Given the description of an element on the screen output the (x, y) to click on. 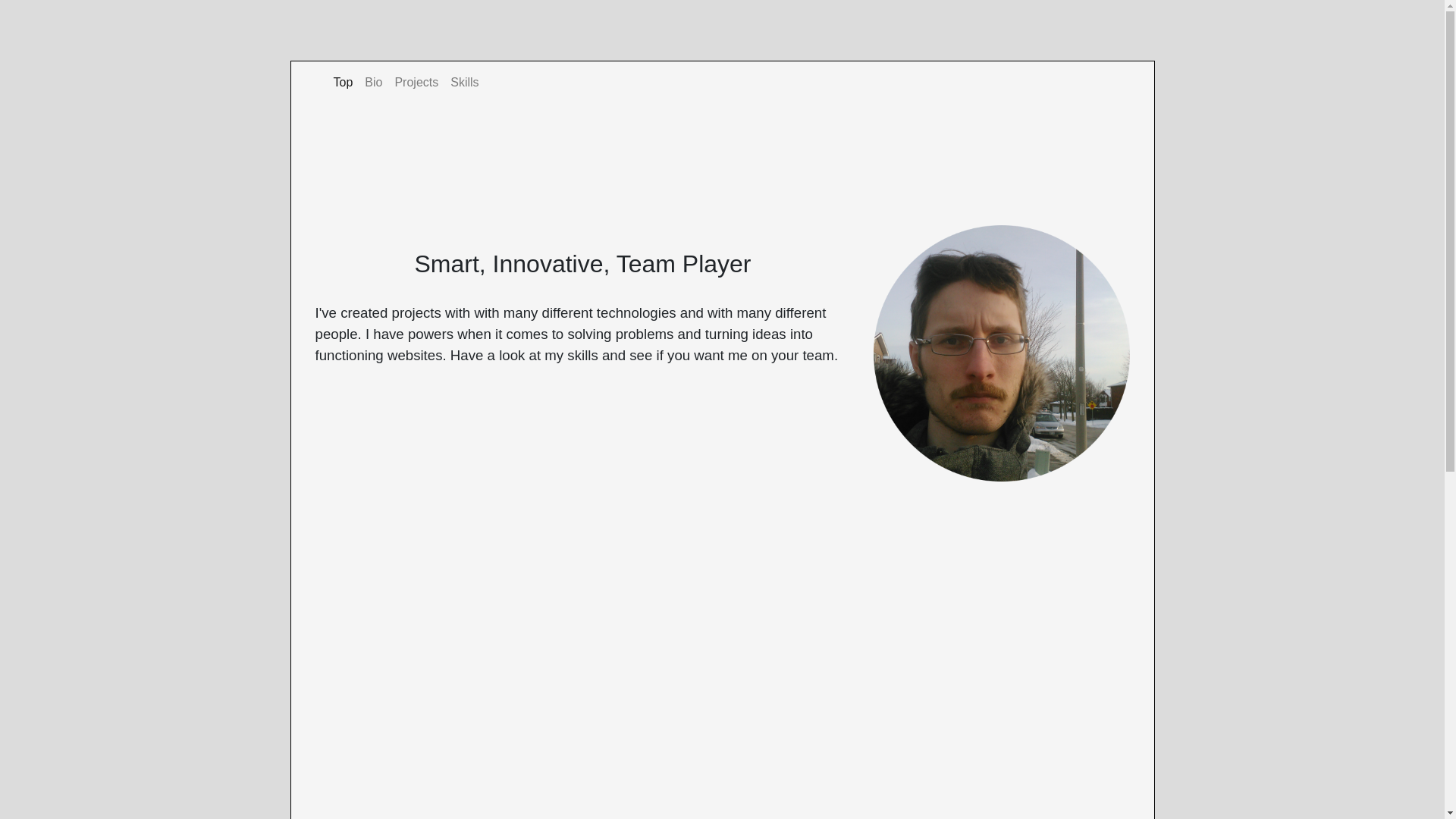
Skills Element type: text (464, 82)
Projects Element type: text (416, 82)
Top Element type: text (343, 82)
Bio Element type: text (373, 82)
